Given the description of an element on the screen output the (x, y) to click on. 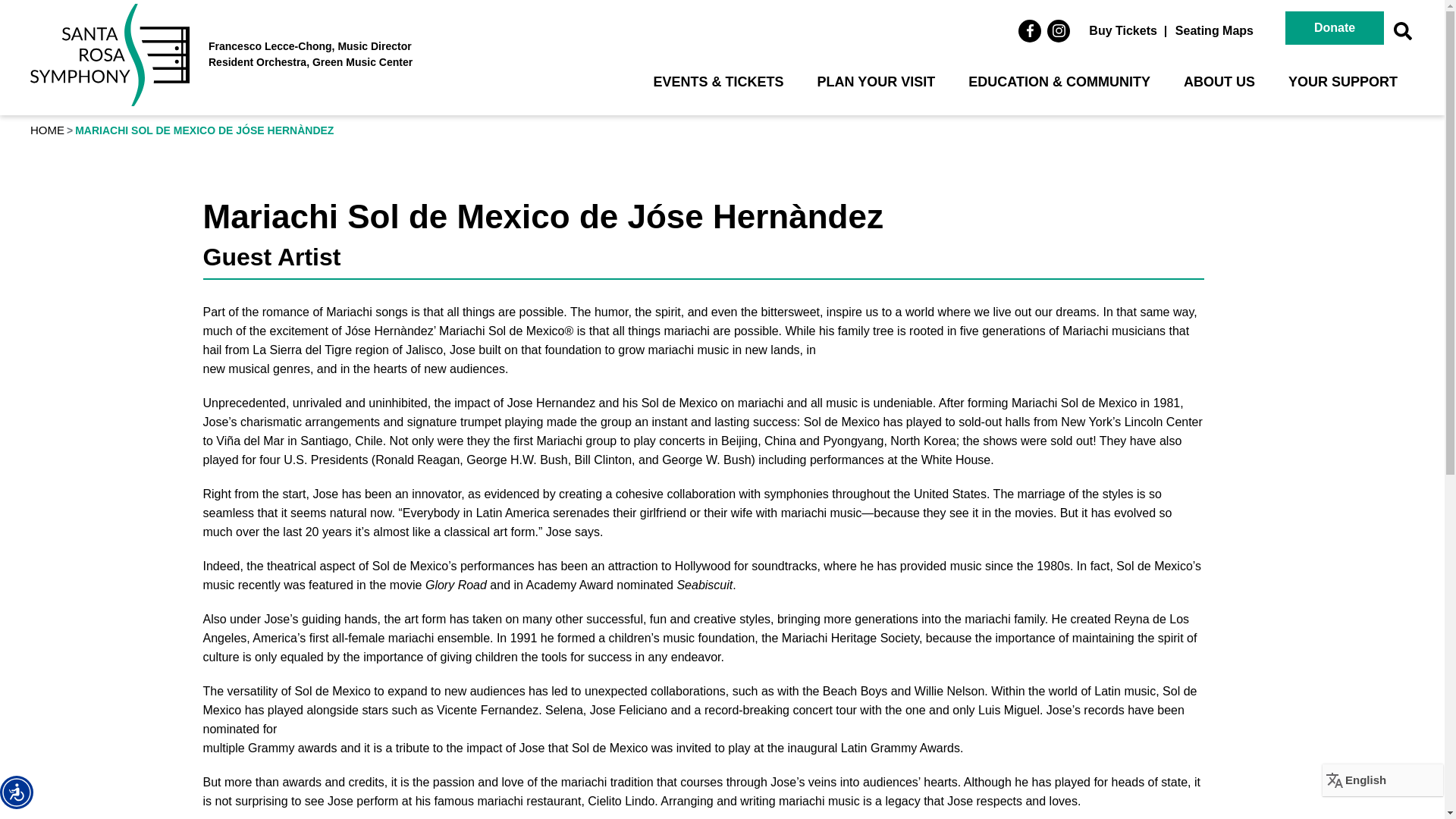
Donate (1334, 28)
YOUR SUPPORT (1342, 90)
ABOUT US (1219, 90)
Seating Maps (1214, 30)
Buy Tickets (1123, 30)
Accessibility Menu (16, 792)
PLAN YOUR VISIT (876, 90)
